Given the description of an element on the screen output the (x, y) to click on. 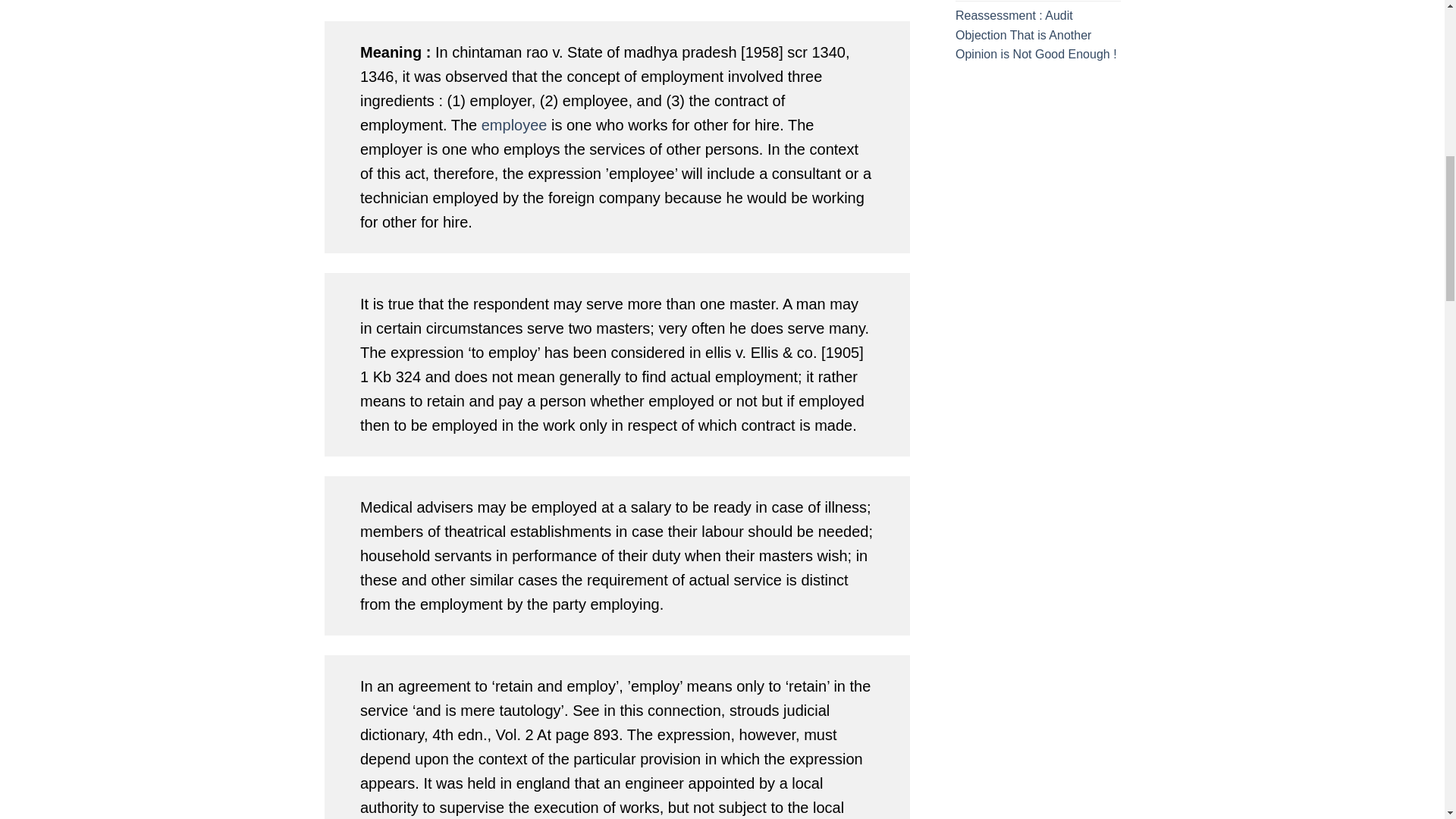
employee (514, 125)
